Given the description of an element on the screen output the (x, y) to click on. 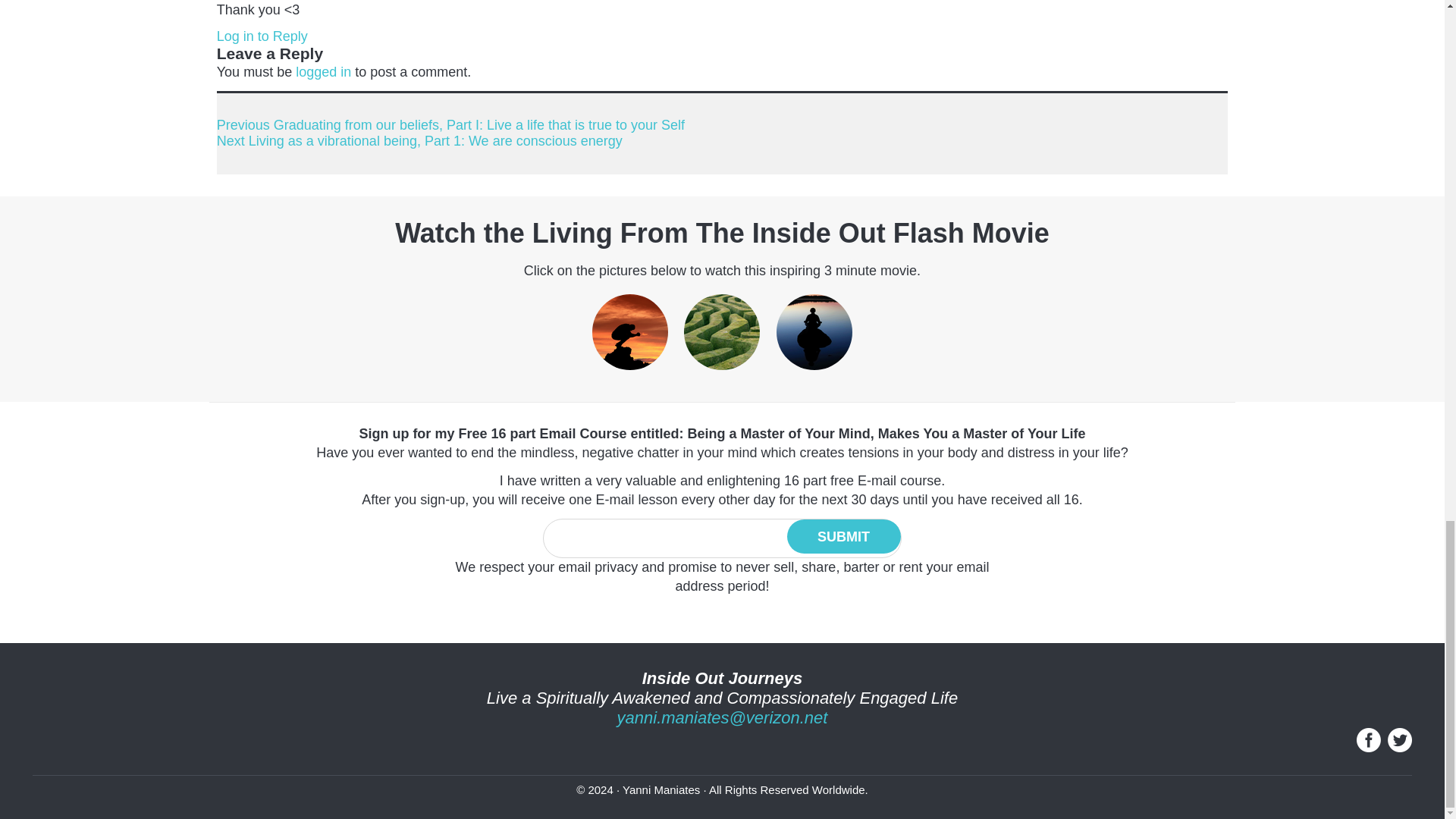
Submit (844, 536)
logged in (322, 71)
Submit (844, 536)
Log in to Reply (261, 36)
